Given the description of an element on the screen output the (x, y) to click on. 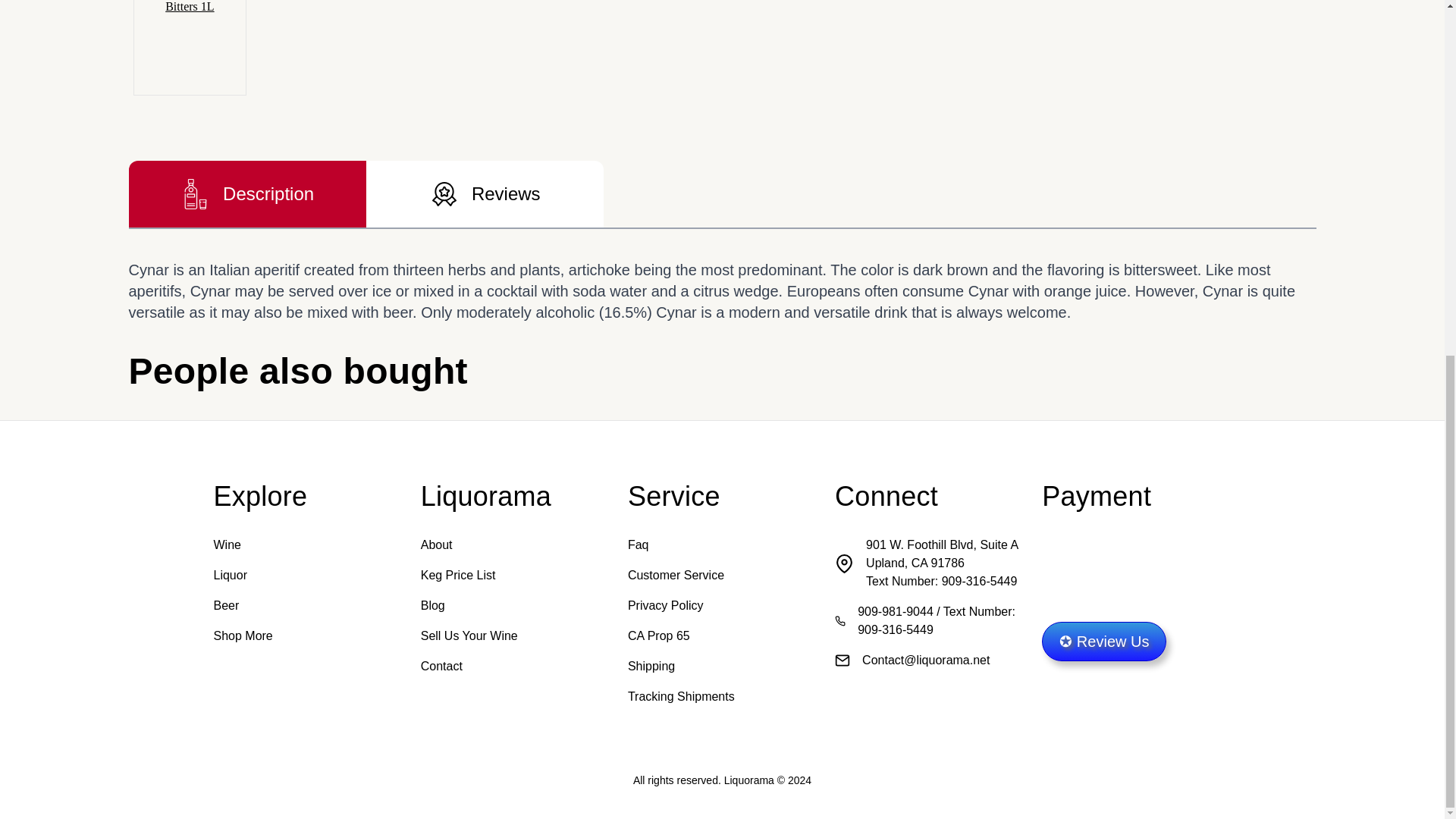
Cynar Apertif Bitters 1L (189, 46)
